Given the description of an element on the screen output the (x, y) to click on. 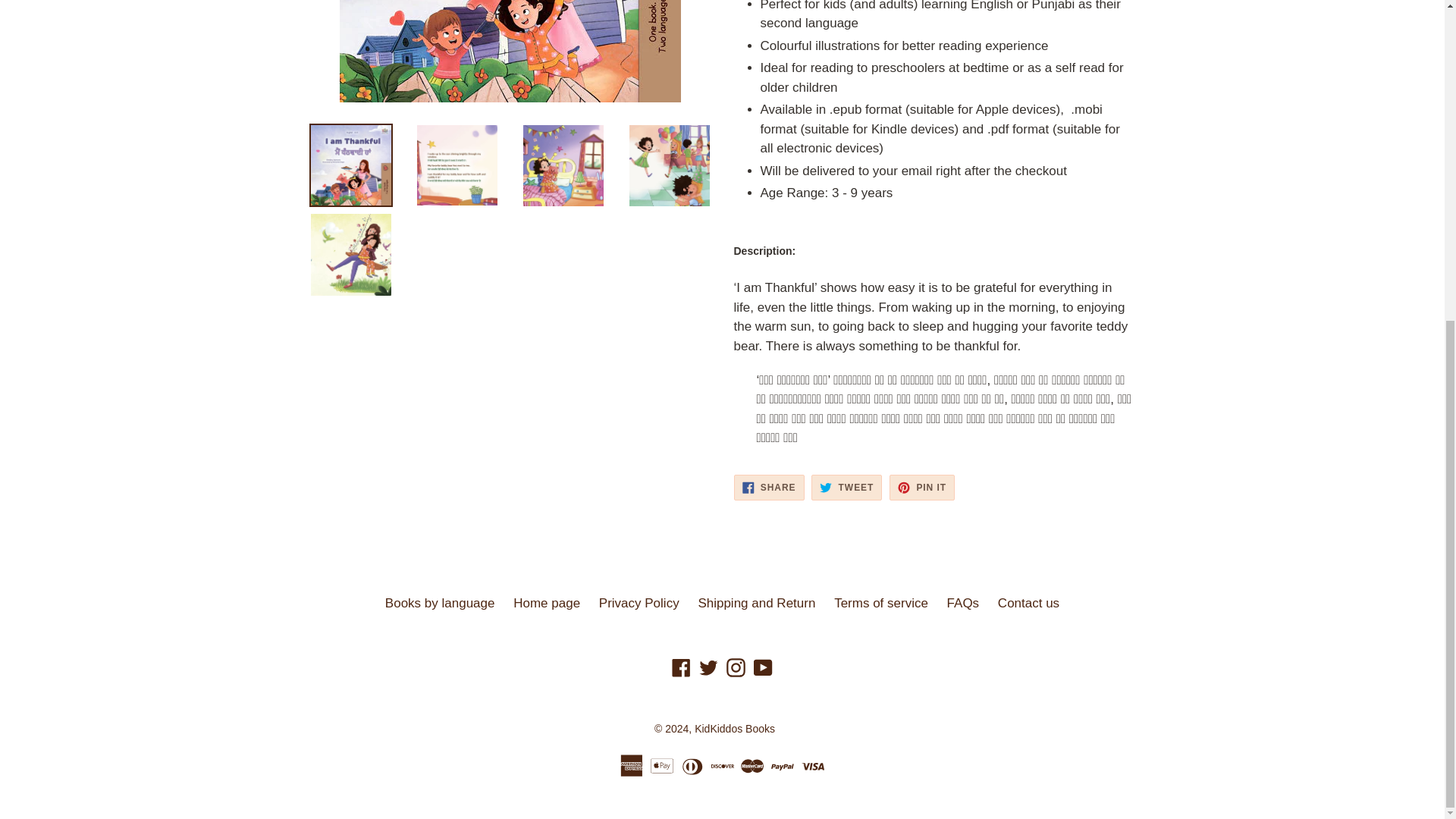
KidKiddos Books  on YouTube (762, 667)
Pin on Pinterest (922, 487)
Tweet on Twitter (846, 487)
KidKiddos Books  on Facebook (681, 667)
Share on Facebook (769, 487)
KidKiddos Books  on Instagram (735, 667)
KidKiddos Books  on Twitter (708, 667)
